Given the description of an element on the screen output the (x, y) to click on. 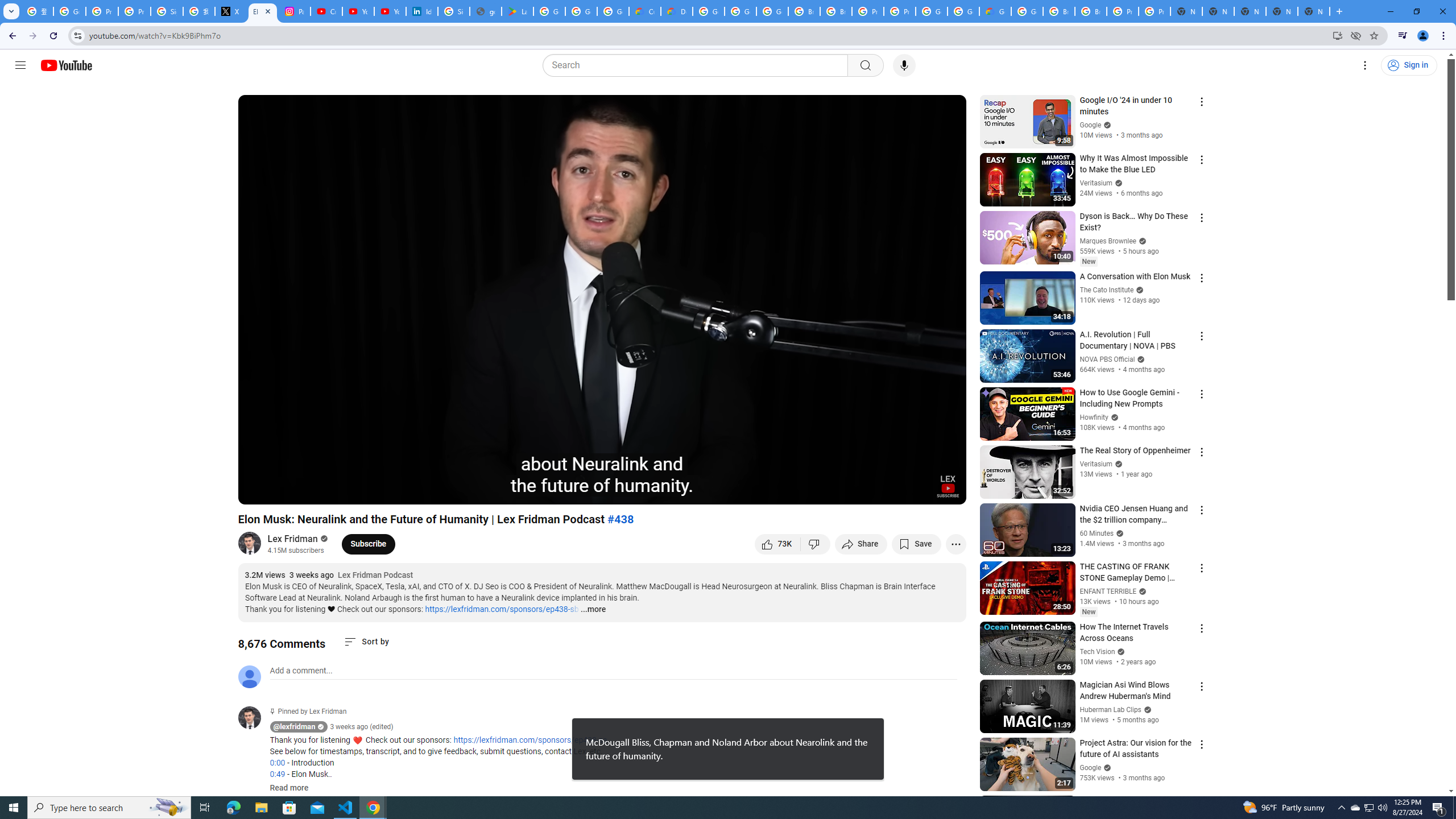
Autoplay is on (808, 490)
Customer Care | Google Cloud (644, 11)
Guide (20, 65)
Save to playlist (915, 543)
YouTube Home (66, 65)
YouTube Culture & Trends - YouTube Top 10, 2021 (389, 11)
0:00 (277, 763)
